Given the description of an element on the screen output the (x, y) to click on. 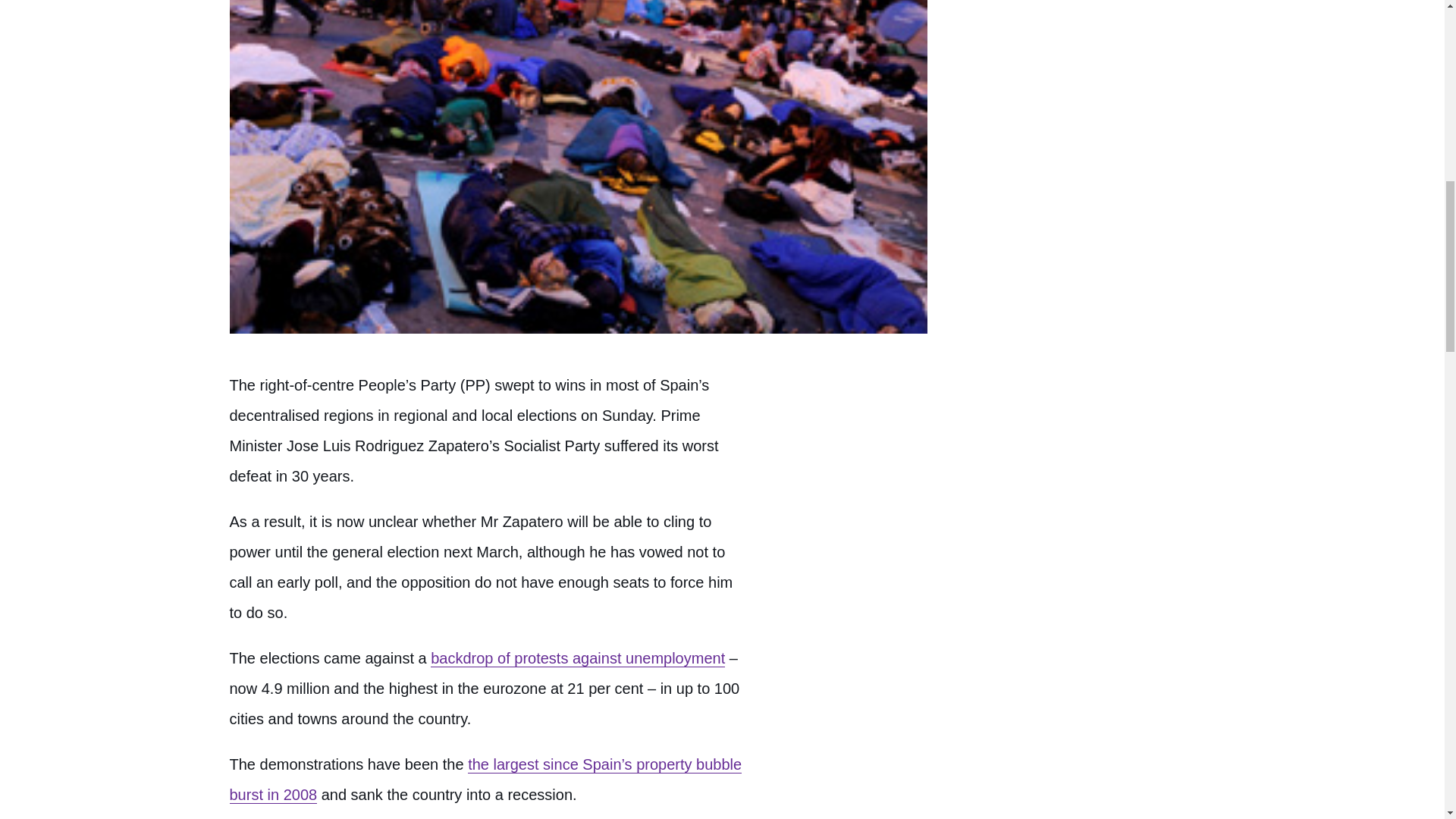
backdrop of protests against unemployment (577, 658)
